Given the description of an element on the screen output the (x, y) to click on. 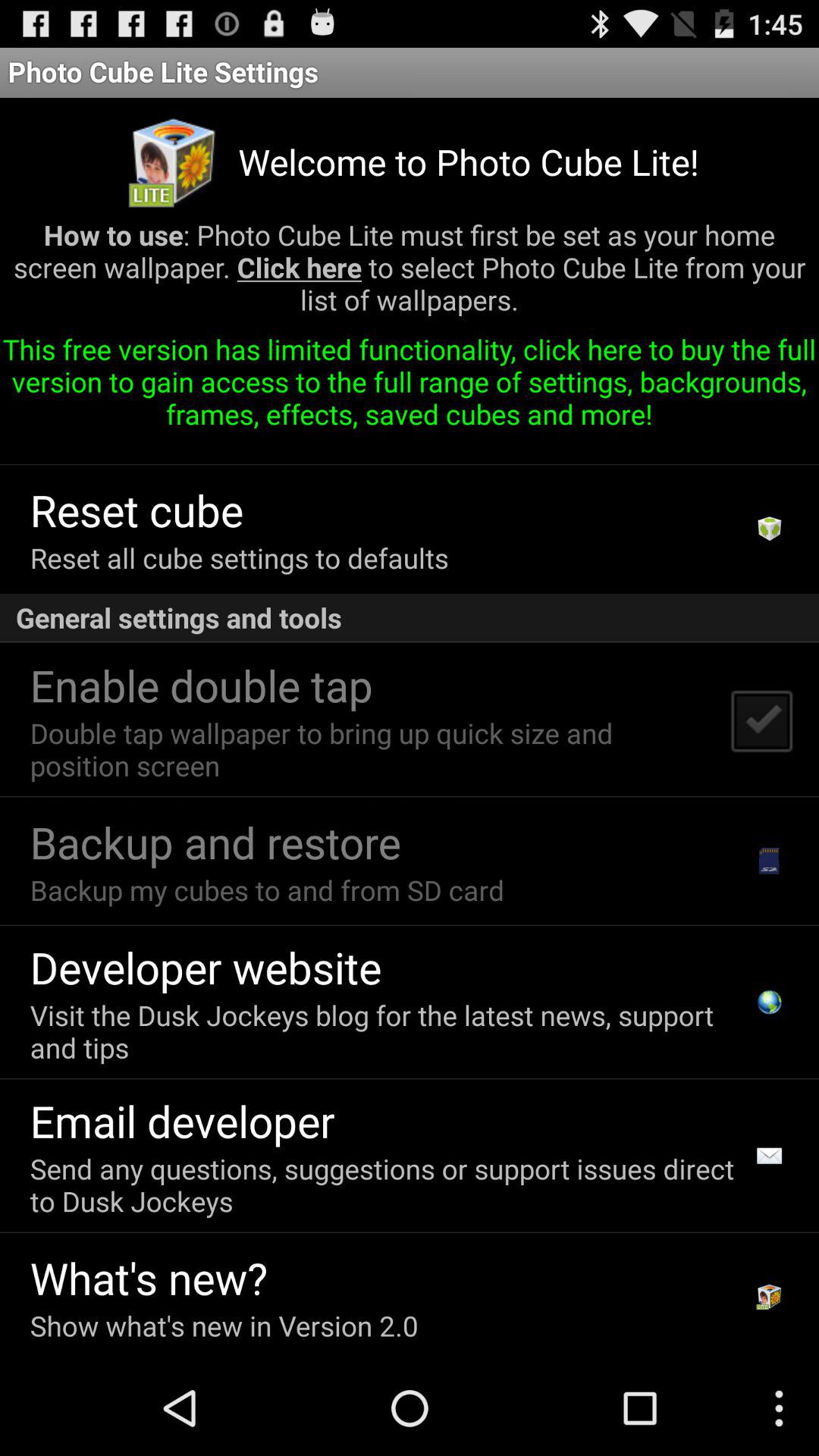
turn off the icon to the right of the show what s (769, 1296)
